Given the description of an element on the screen output the (x, y) to click on. 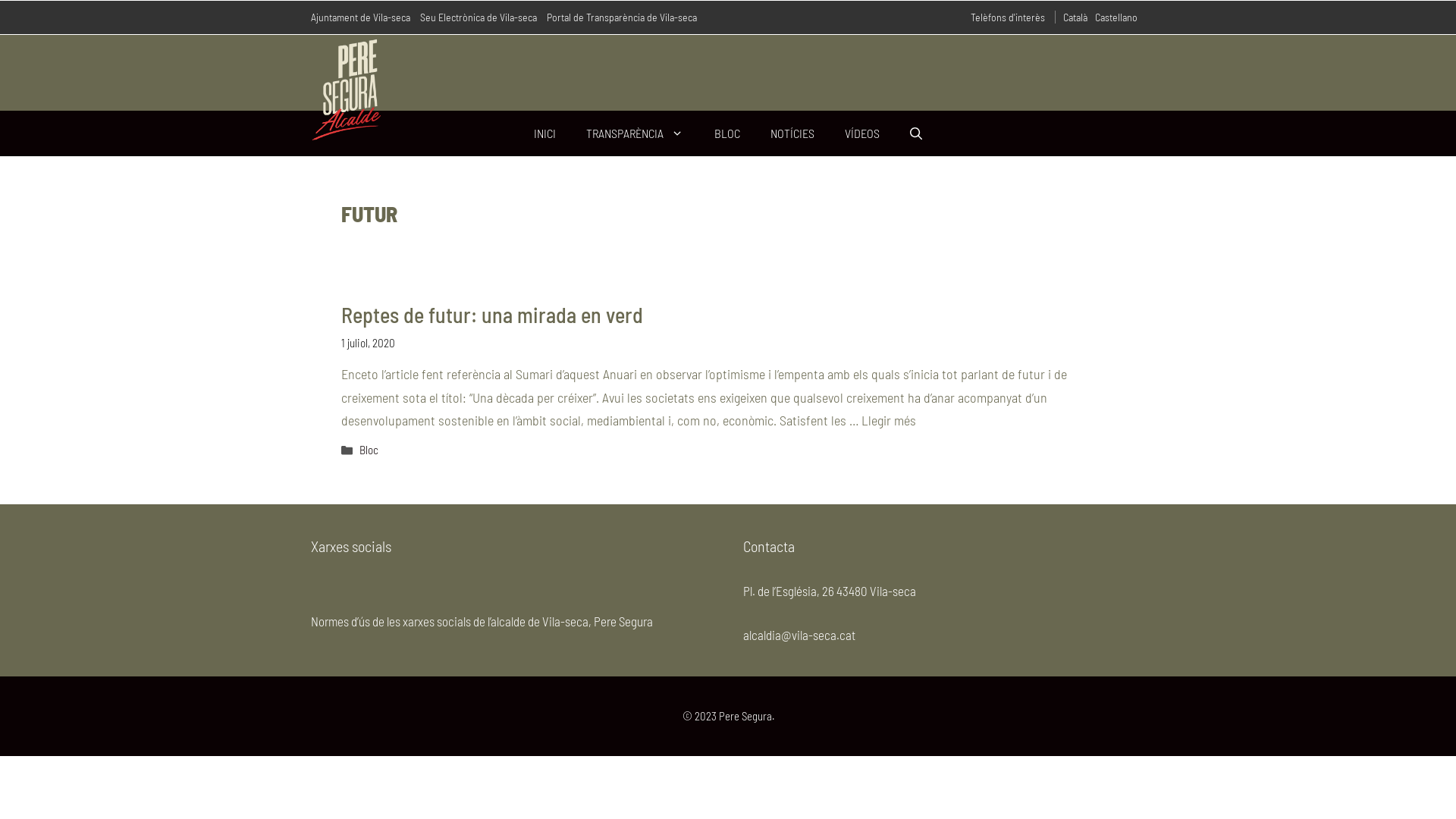
Bloc Element type: text (368, 449)
BLOC Element type: text (727, 133)
Pere Segura Xatruch Element type: hover (346, 87)
Pere Segura Xatruch Element type: hover (346, 89)
Castellano Element type: text (1120, 16)
Ajuntament de Vila-seca Element type: text (365, 16)
INICI Element type: text (544, 133)
Reptes de futur: una mirada en verd Element type: text (492, 314)
